Given the description of an element on the screen output the (x, y) to click on. 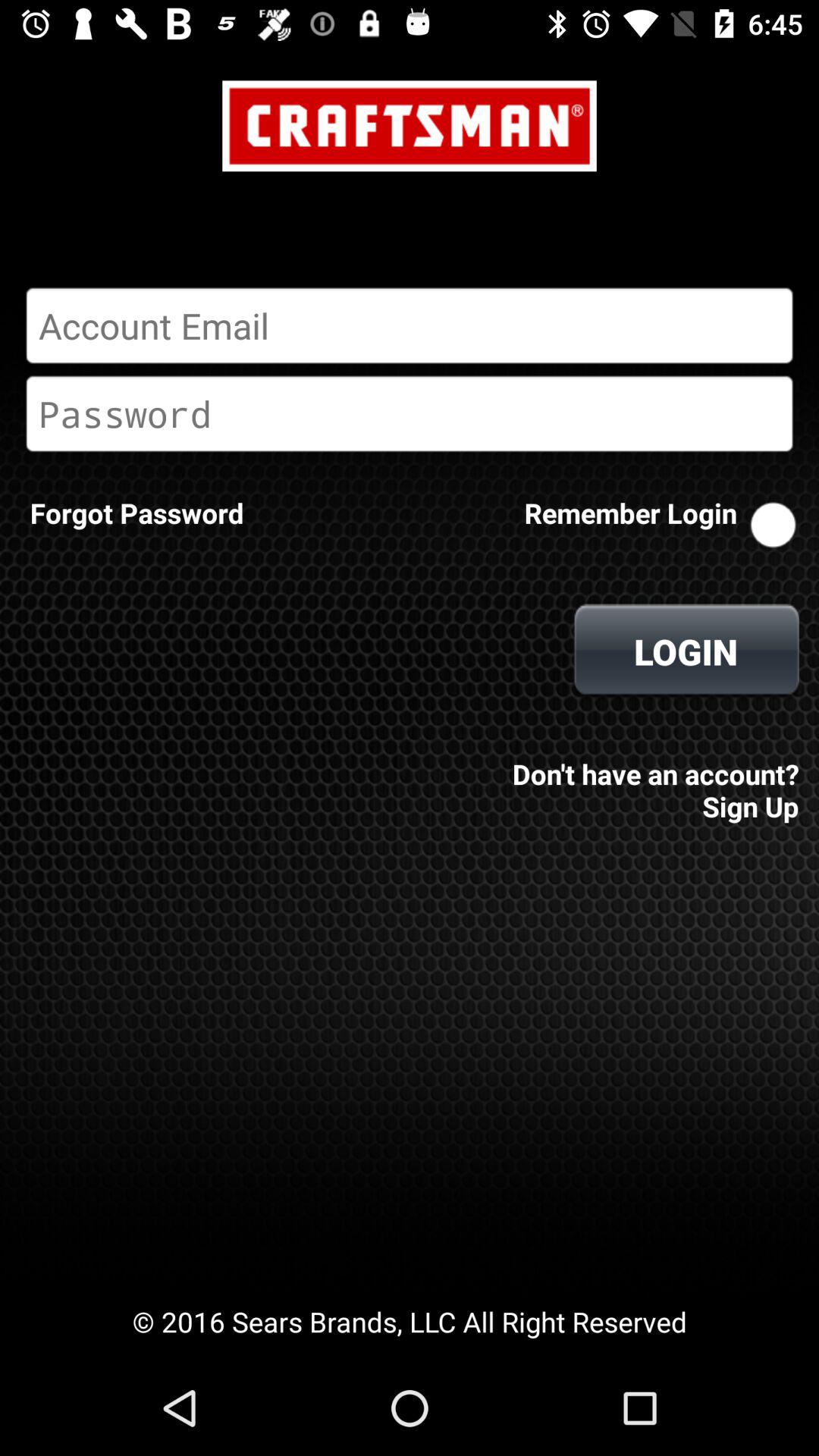
toggle remember login (773, 524)
